Given the description of an element on the screen output the (x, y) to click on. 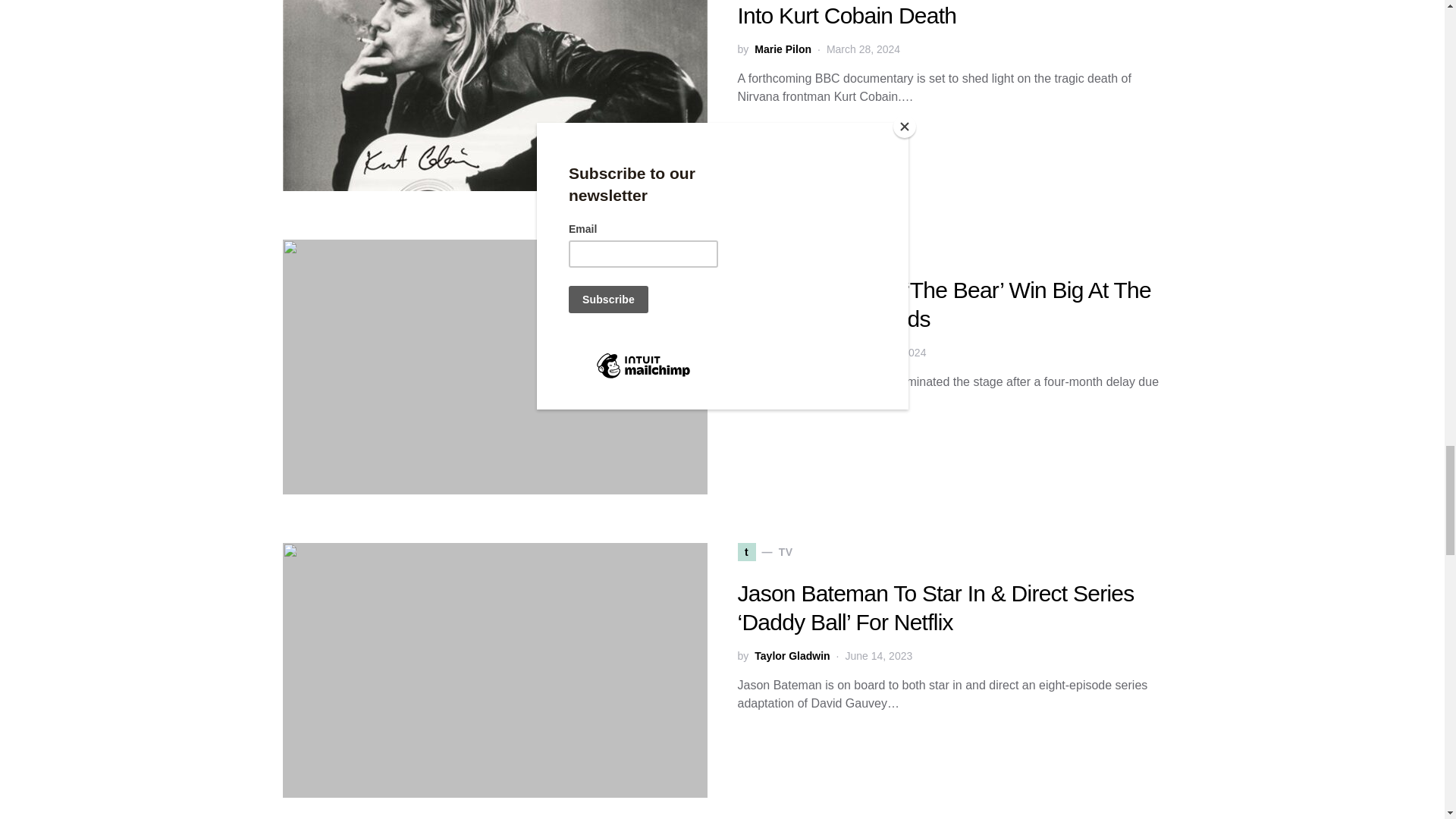
View all posts by Marie Pilon (782, 49)
View all posts by Charline David (791, 352)
View all posts by Taylor Gladwin (791, 656)
